Given the description of an element on the screen output the (x, y) to click on. 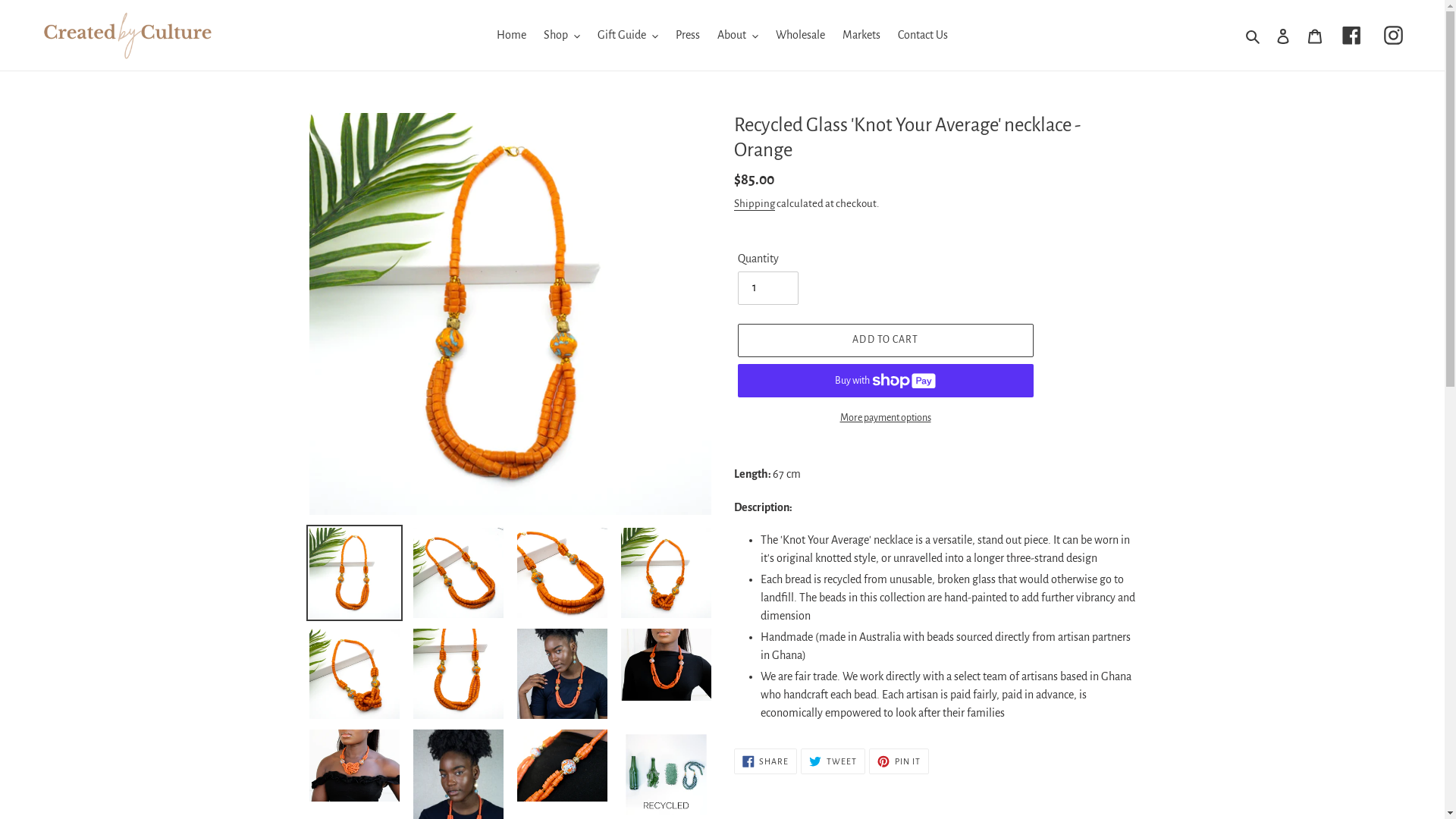
Log in Element type: text (1283, 34)
TWEET
TWEET ON TWITTER Element type: text (832, 761)
PIN IT
PIN ON PINTEREST Element type: text (898, 761)
Shop Element type: text (561, 34)
Shipping Element type: text (754, 203)
Press Element type: text (687, 34)
Gift Guide Element type: text (627, 34)
Cart Element type: text (1314, 34)
Search Element type: text (1253, 34)
About Element type: text (737, 34)
Home Element type: text (511, 34)
Contact Us Element type: text (922, 34)
More payment options Element type: text (884, 417)
Markets Element type: text (861, 34)
ADD TO CART Element type: text (884, 339)
Instagram Element type: text (1392, 35)
Facebook Element type: text (1351, 35)
SHARE
SHARE ON FACEBOOK Element type: text (765, 761)
Wholesale Element type: text (800, 34)
